Given the description of an element on the screen output the (x, y) to click on. 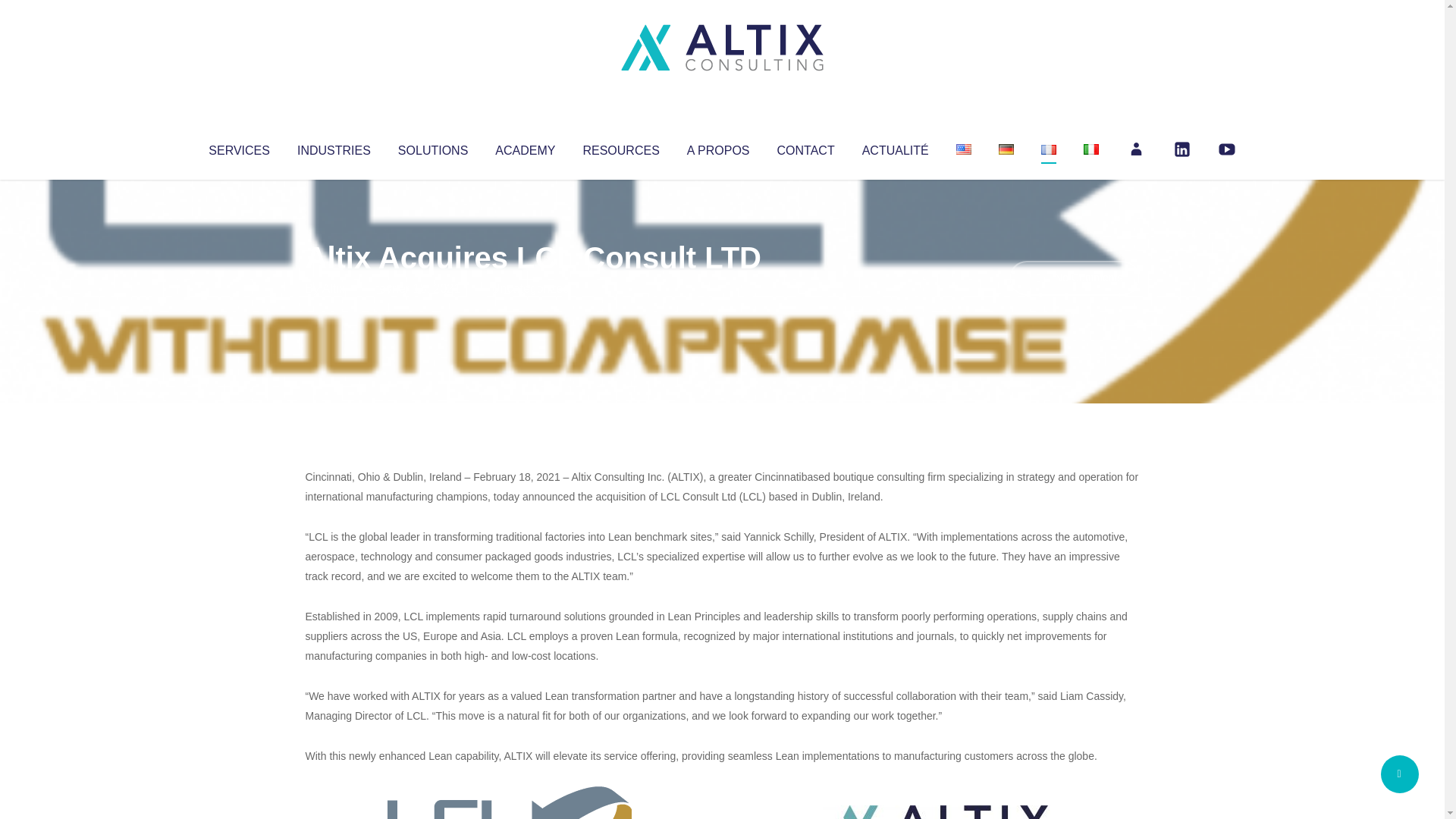
INDUSTRIES (334, 146)
SERVICES (238, 146)
No Comments (1073, 278)
RESOURCES (620, 146)
A PROPOS (718, 146)
Altix (333, 287)
Uncategorized (530, 287)
ACADEMY (524, 146)
Articles par Altix (333, 287)
SOLUTIONS (432, 146)
